Given the description of an element on the screen output the (x, y) to click on. 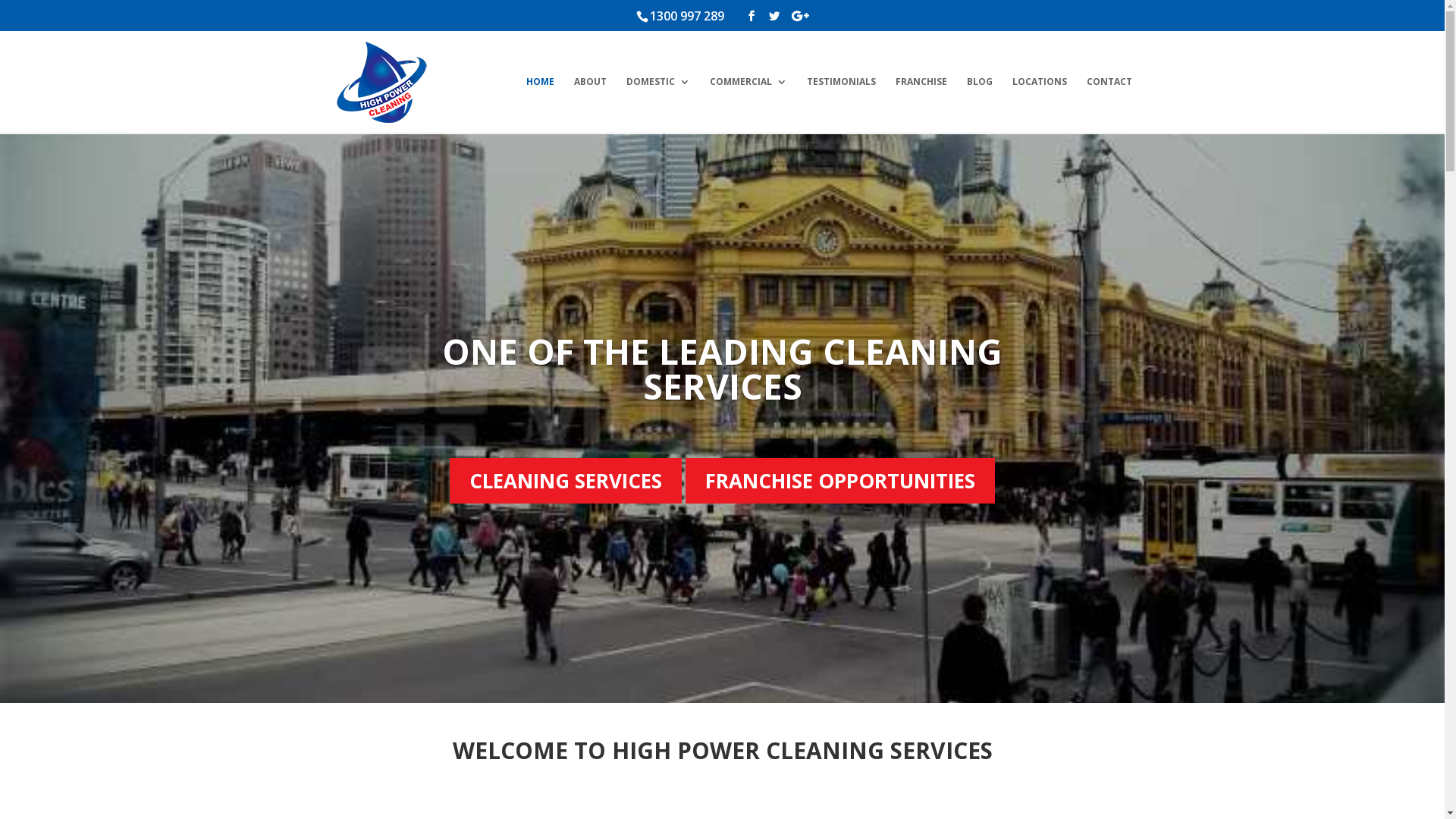
TESTIMONIALS Element type: text (840, 104)
COMMERCIAL Element type: text (748, 104)
CLEANING SERVICES Element type: text (565, 480)
HOME Element type: text (540, 104)
BLOG Element type: text (978, 104)
FRANCHISE OPPORTUNITIES Element type: text (839, 480)
FRANCHISE Element type: text (920, 104)
LOCATIONS Element type: text (1038, 104)
ABOUT Element type: text (589, 104)
CONTACT Element type: text (1108, 104)
DOMESTIC Element type: text (658, 104)
